Given the description of an element on the screen output the (x, y) to click on. 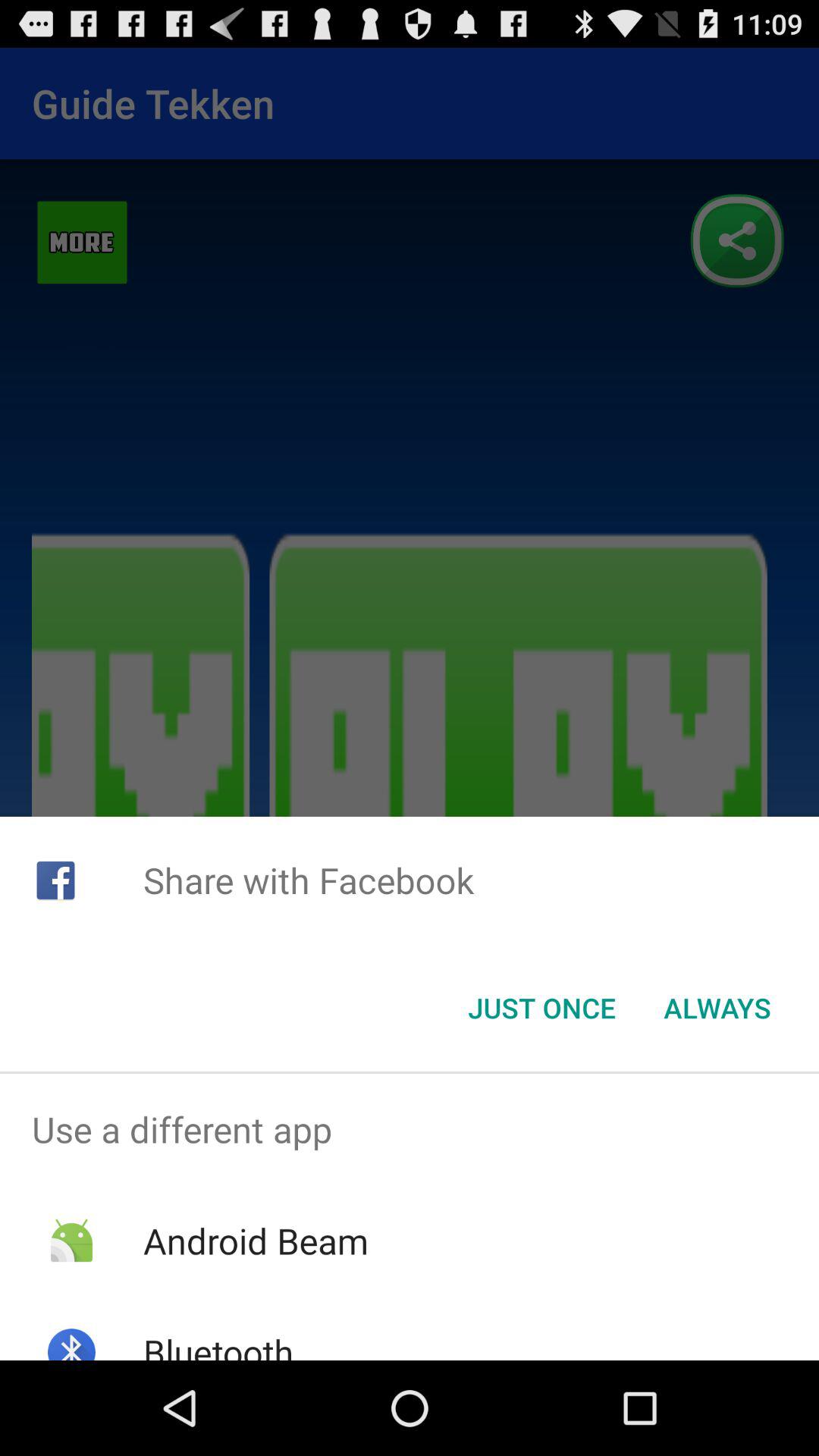
tap the use a different icon (409, 1129)
